Given the description of an element on the screen output the (x, y) to click on. 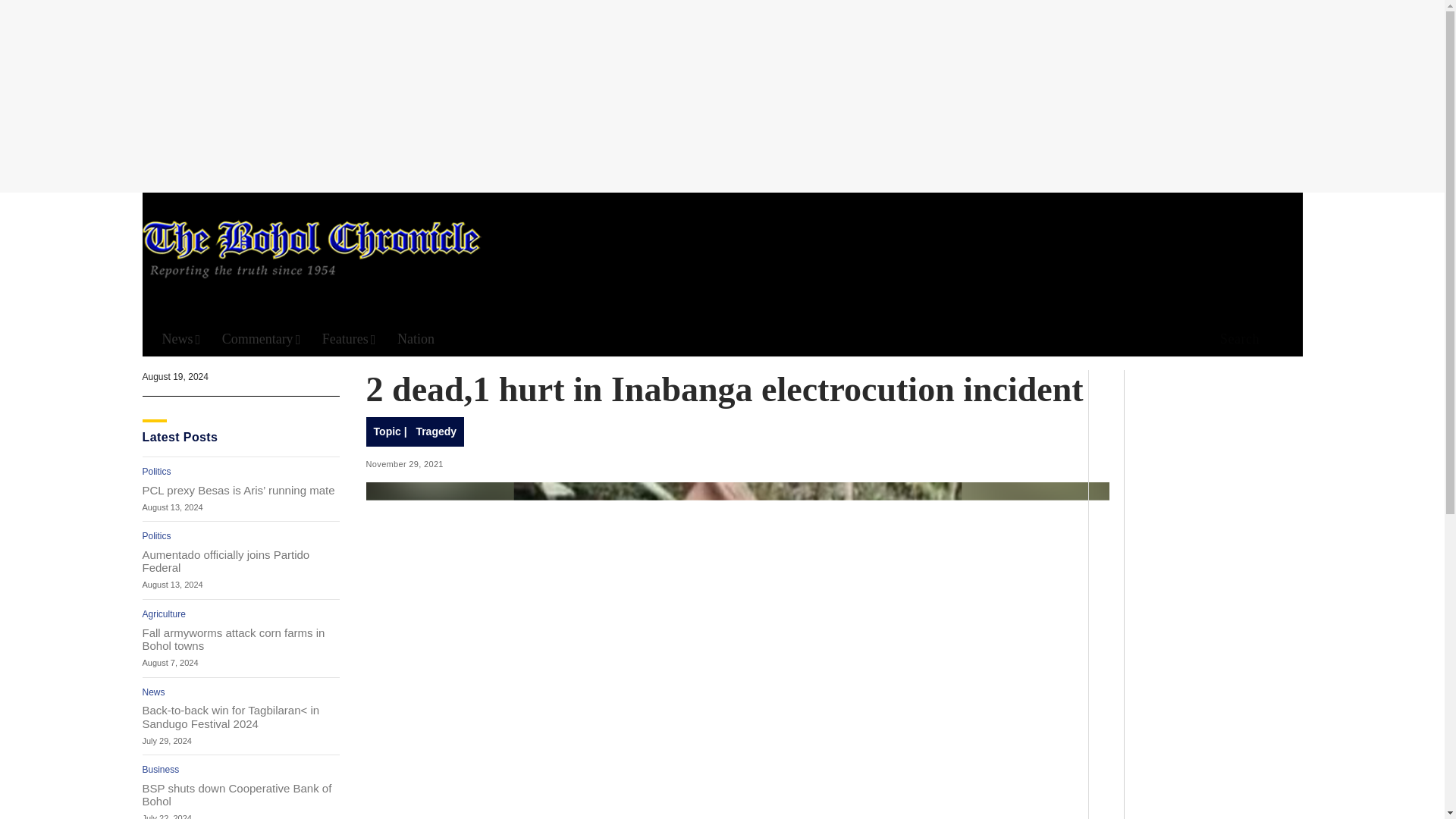
Business (160, 769)
BSP shuts down Cooperative Bank of Bohol (240, 794)
Politics (156, 471)
Fall armyworms attack corn farms in Bohol towns (240, 638)
Nation (415, 339)
Aumentado officially joins Partido Federal (240, 560)
Search (1234, 339)
Features (348, 339)
Agriculture (164, 614)
News (153, 692)
